Given the description of an element on the screen output the (x, y) to click on. 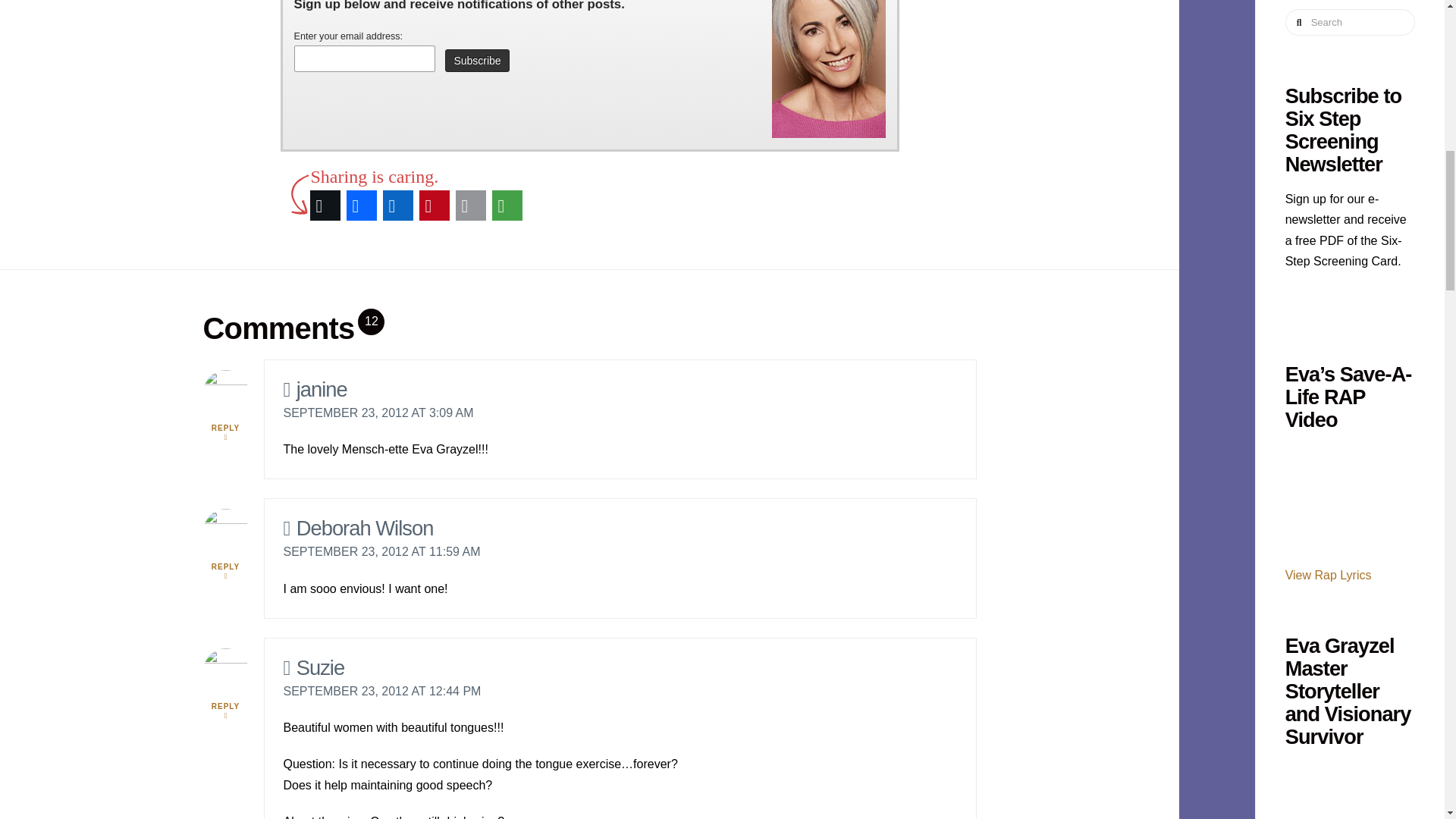
Pinterest (432, 205)
Facebook (360, 205)
LinkedIn (396, 205)
Subscribe (476, 60)
